Given the description of an element on the screen output the (x, y) to click on. 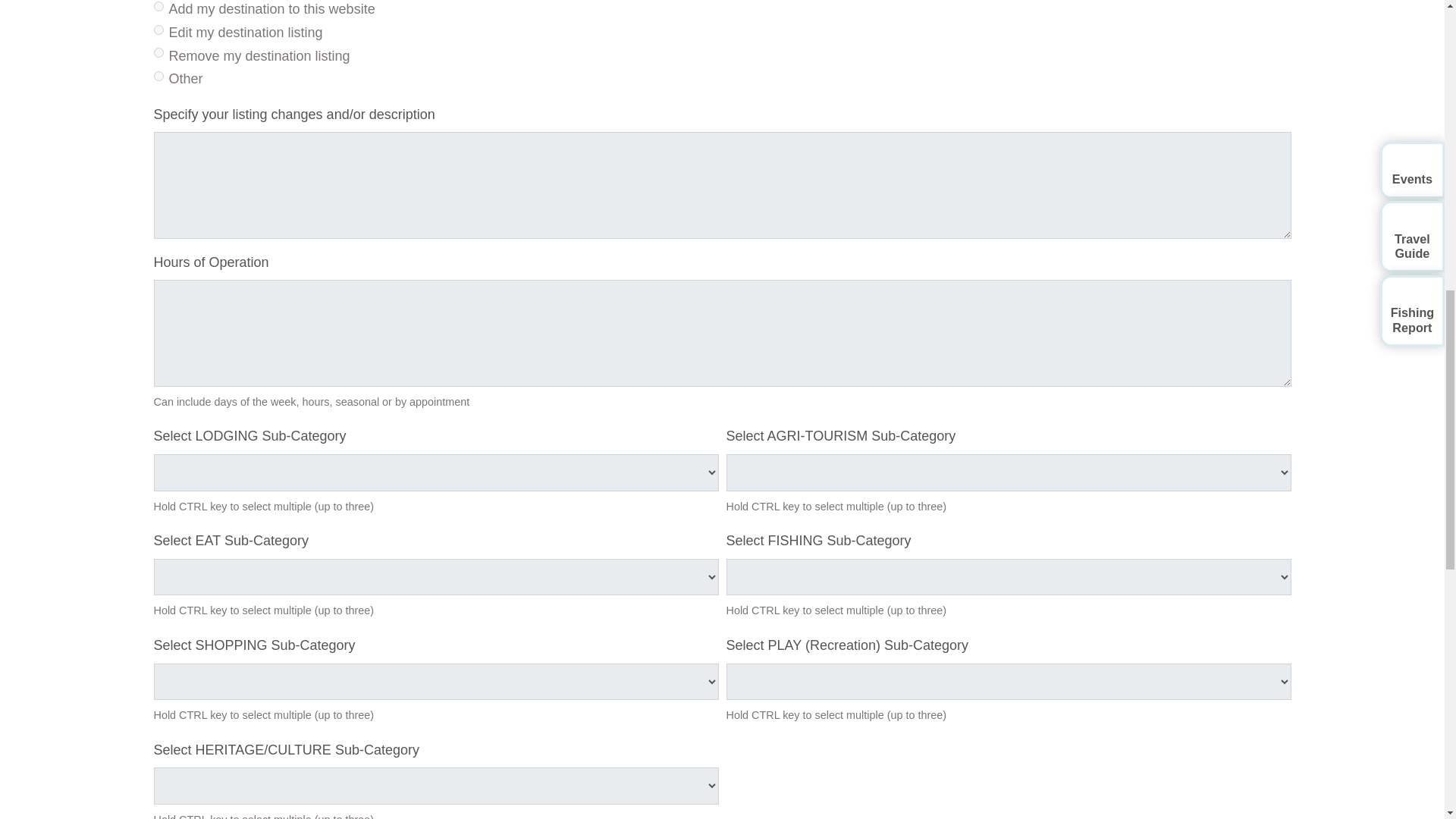
Edit my destination listing (157, 30)
Add my destination to this website (157, 6)
Remove my destination listing (157, 52)
Other (157, 76)
